Given the description of an element on the screen output the (x, y) to click on. 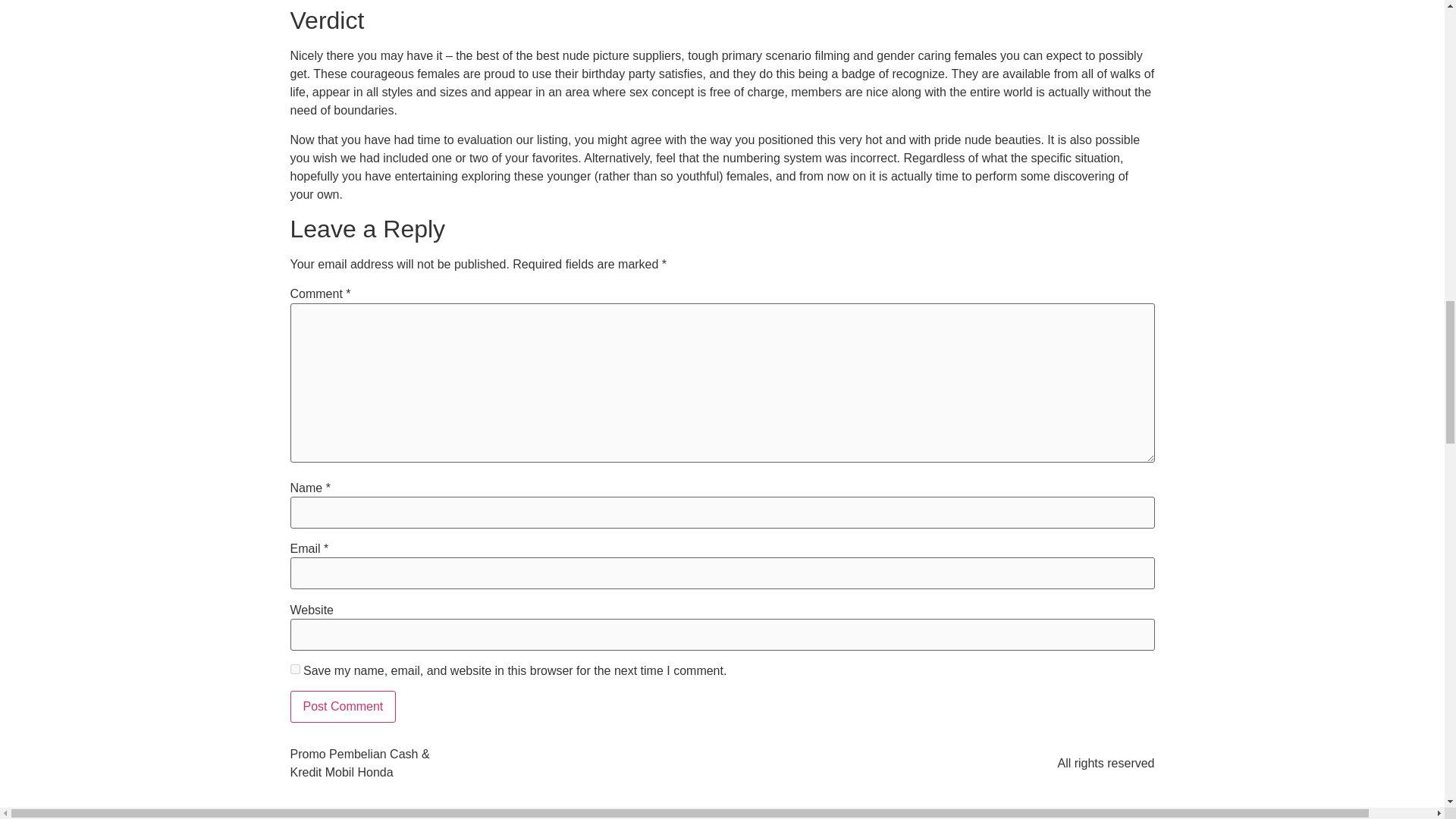
yes (294, 669)
Post Comment (342, 706)
Post Comment (342, 706)
